Given the description of an element on the screen output the (x, y) to click on. 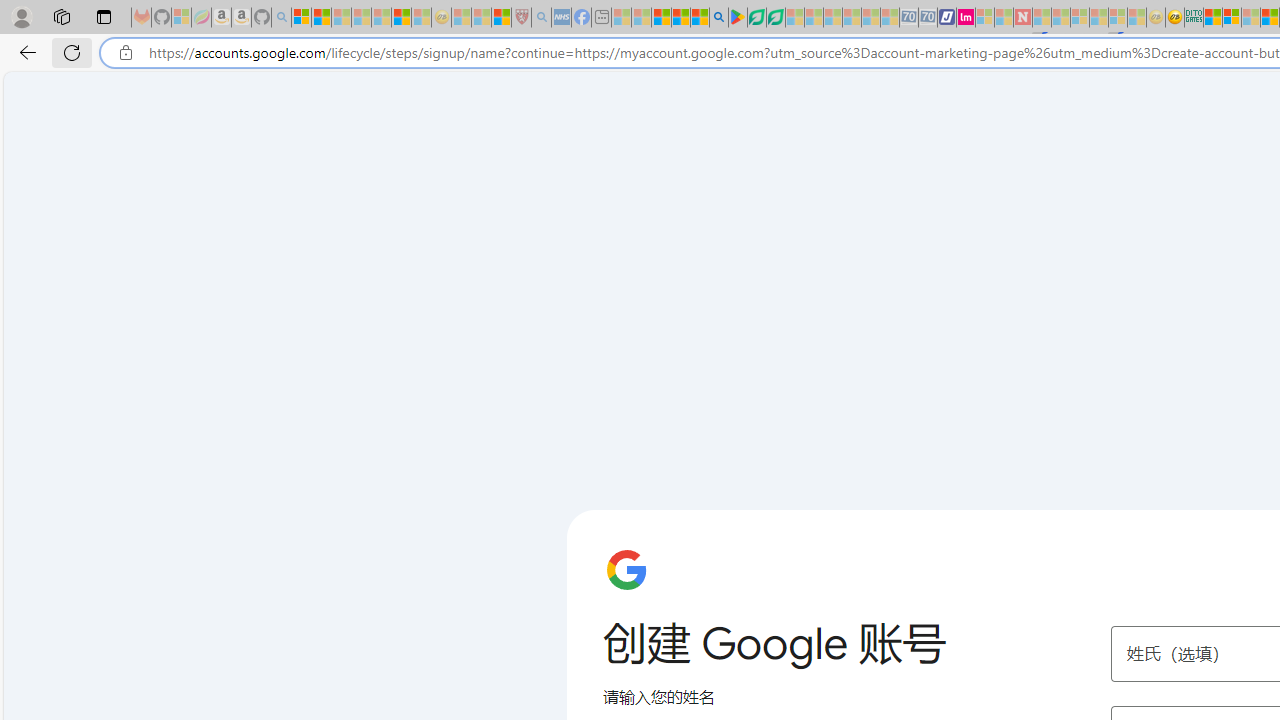
New Report Confirms 2023 Was Record Hot | Watch - Sleeping (381, 17)
Jobs - lastminute.com Investor Portal (966, 17)
MSNBC - MSN - Sleeping (621, 17)
